Given the description of an element on the screen output the (x, y) to click on. 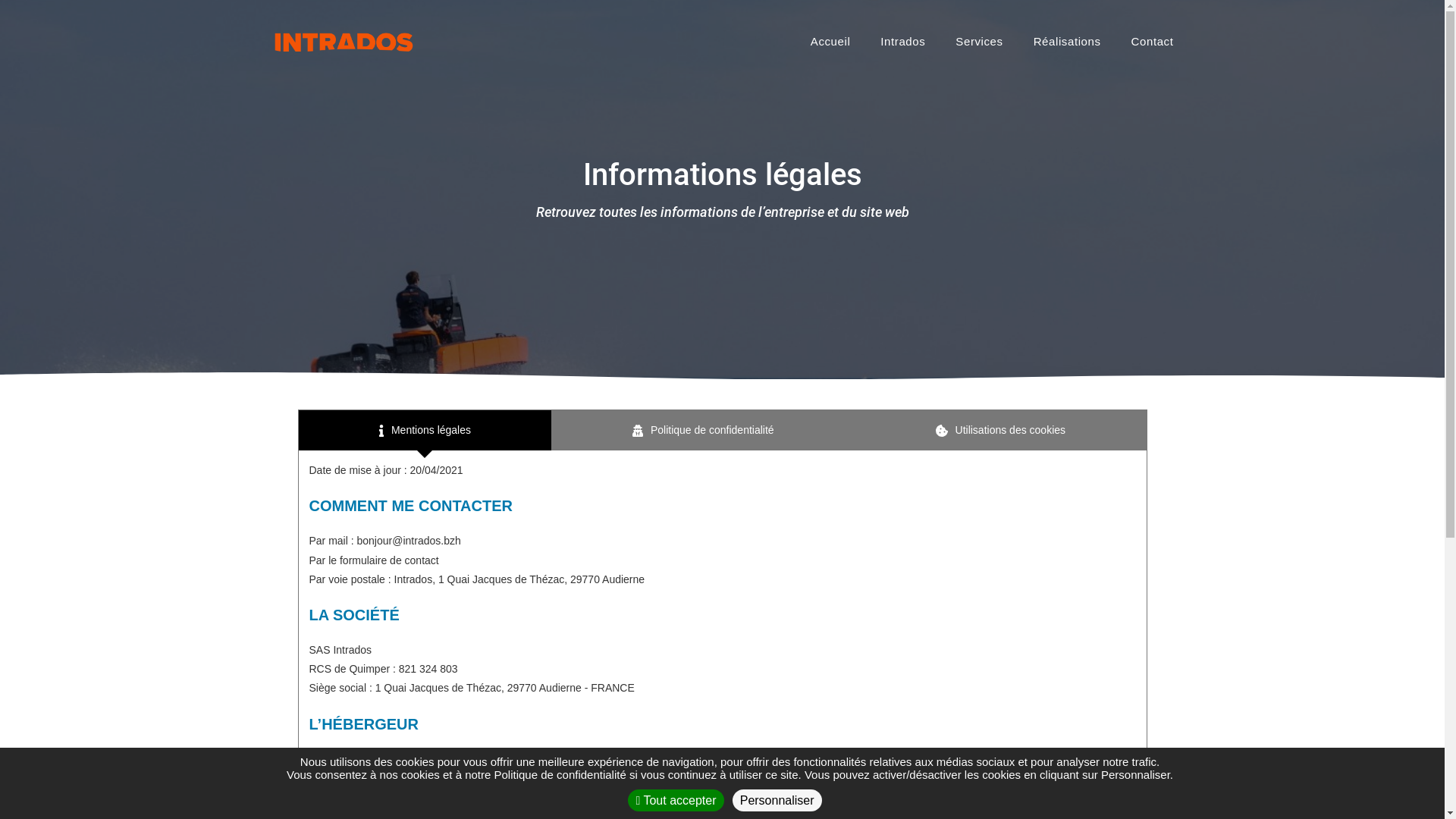
Intrados Element type: text (902, 41)
Contact Element type: text (1152, 41)
Par le formulaire de contact Element type: text (374, 560)
Services Element type: text (978, 41)
Tout accepter Element type: text (675, 800)
Personnaliser Element type: text (777, 800)
Accueil Element type: text (830, 41)
https://www.gandi.net Element type: text (426, 758)
